Given the description of an element on the screen output the (x, y) to click on. 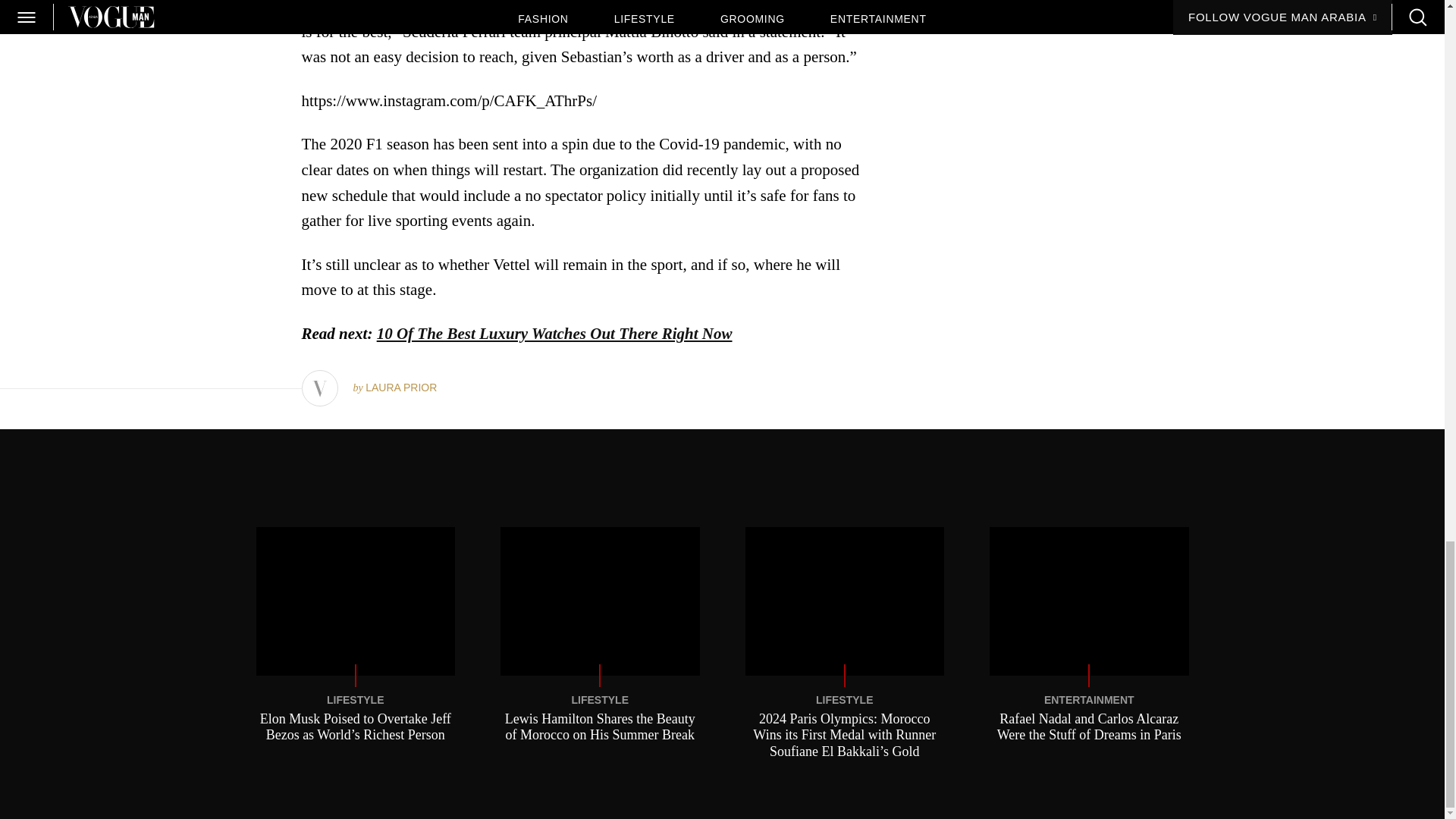
ENTERTAINMENT (1088, 699)
10 Of The Best Luxury Watches Out There Right Now (554, 333)
LAURA PRIOR (400, 387)
LIFESTYLE (843, 699)
LIFESTYLE (355, 699)
Posts by Laura Prior (400, 387)
LIFESTYLE (600, 699)
